Given the description of an element on the screen output the (x, y) to click on. 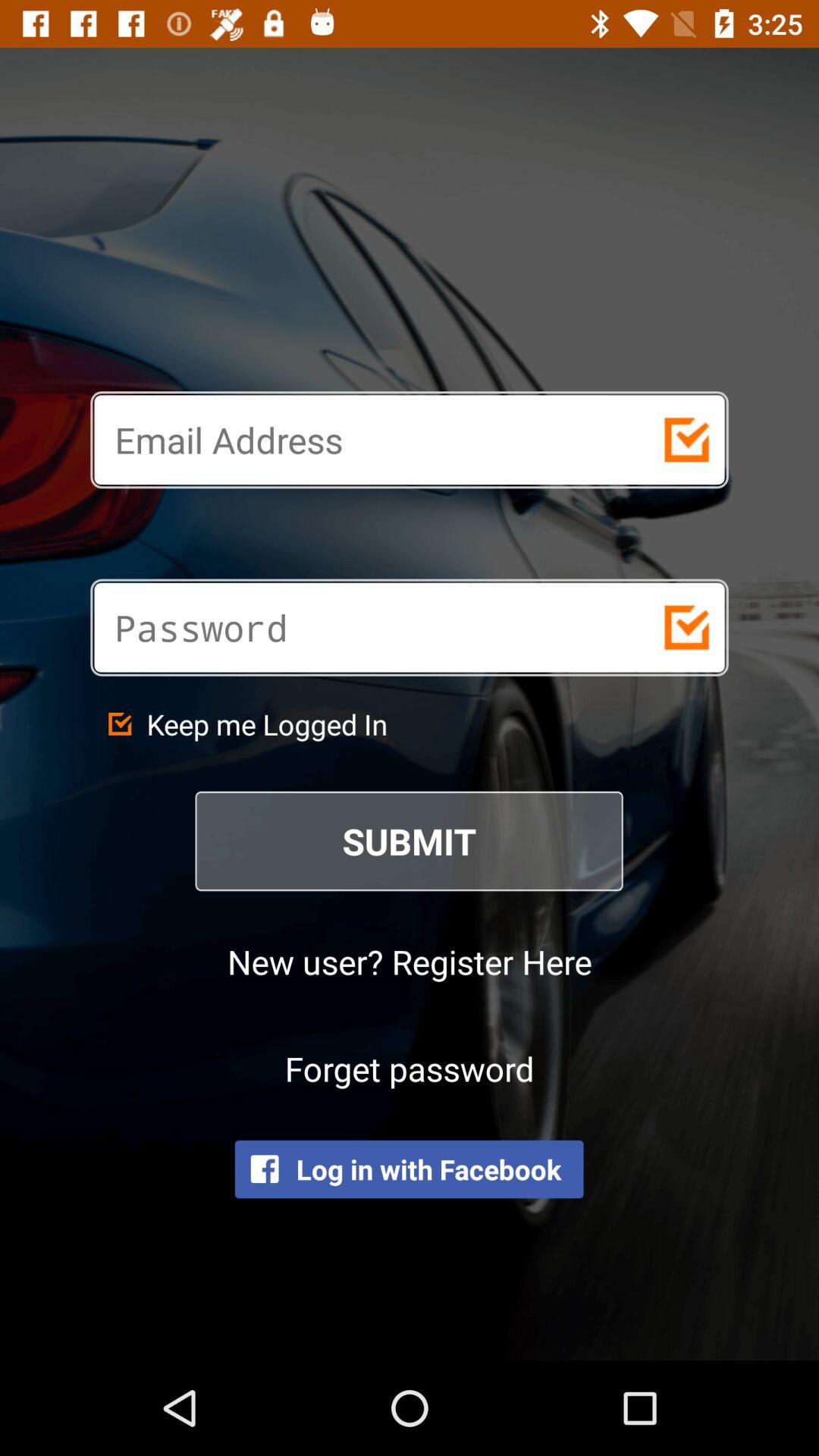
swipe until the log in with (408, 1169)
